Given the description of an element on the screen output the (x, y) to click on. 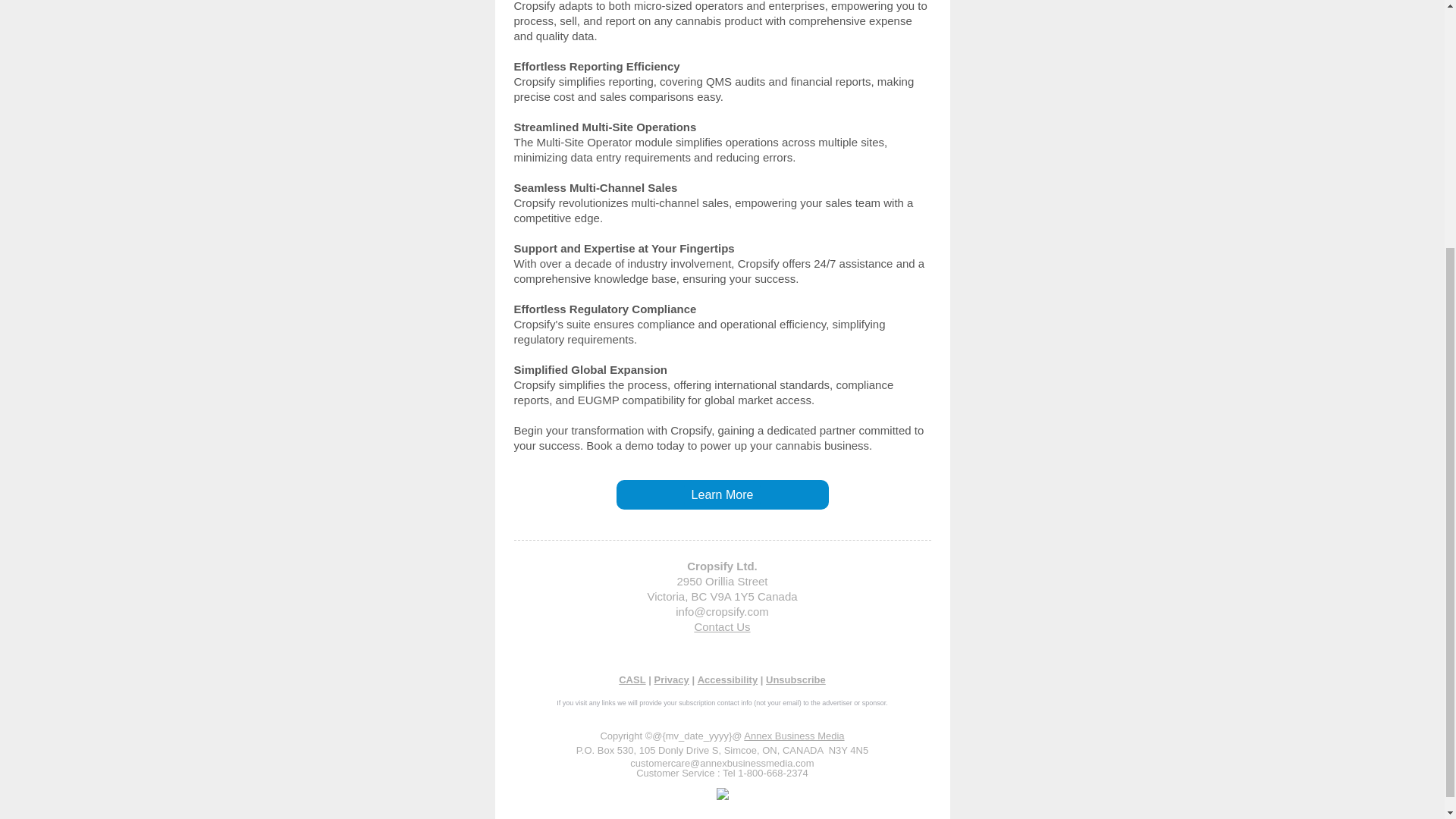
Privacy (670, 679)
Annex Business Media (794, 736)
Contact Us (721, 626)
Accessibility (727, 679)
CASL (631, 679)
Unsubscribe (795, 679)
Learn More (722, 494)
